Given the description of an element on the screen output the (x, y) to click on. 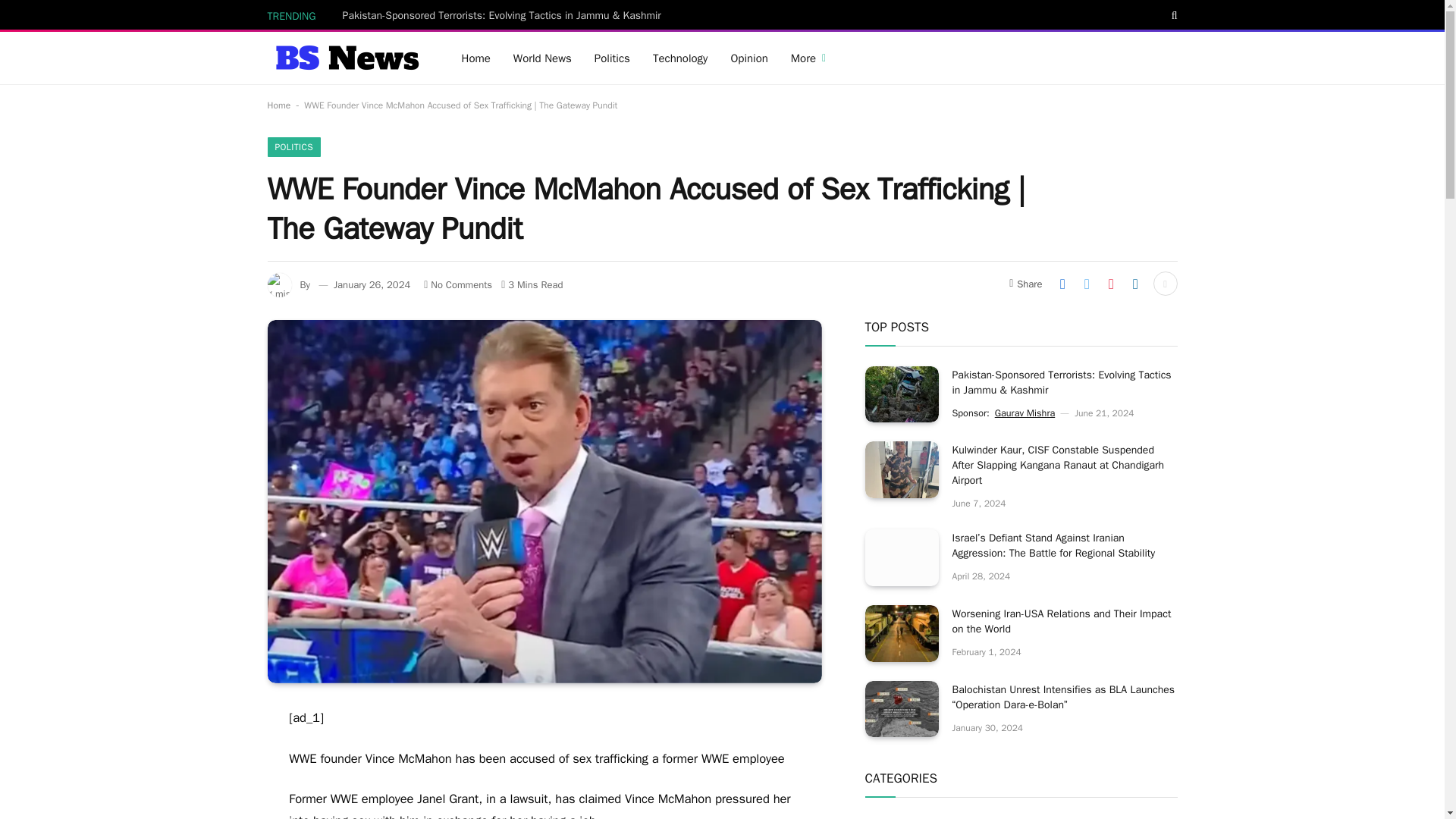
POLITICS (293, 147)
Home (277, 105)
No Comments (457, 284)
Share on Pinterest (1110, 283)
Show More Social Sharing (1164, 283)
World News (542, 57)
Home (475, 57)
More (807, 57)
Share on LinkedIn (1135, 283)
Share on Facebook (1062, 283)
